Given the description of an element on the screen output the (x, y) to click on. 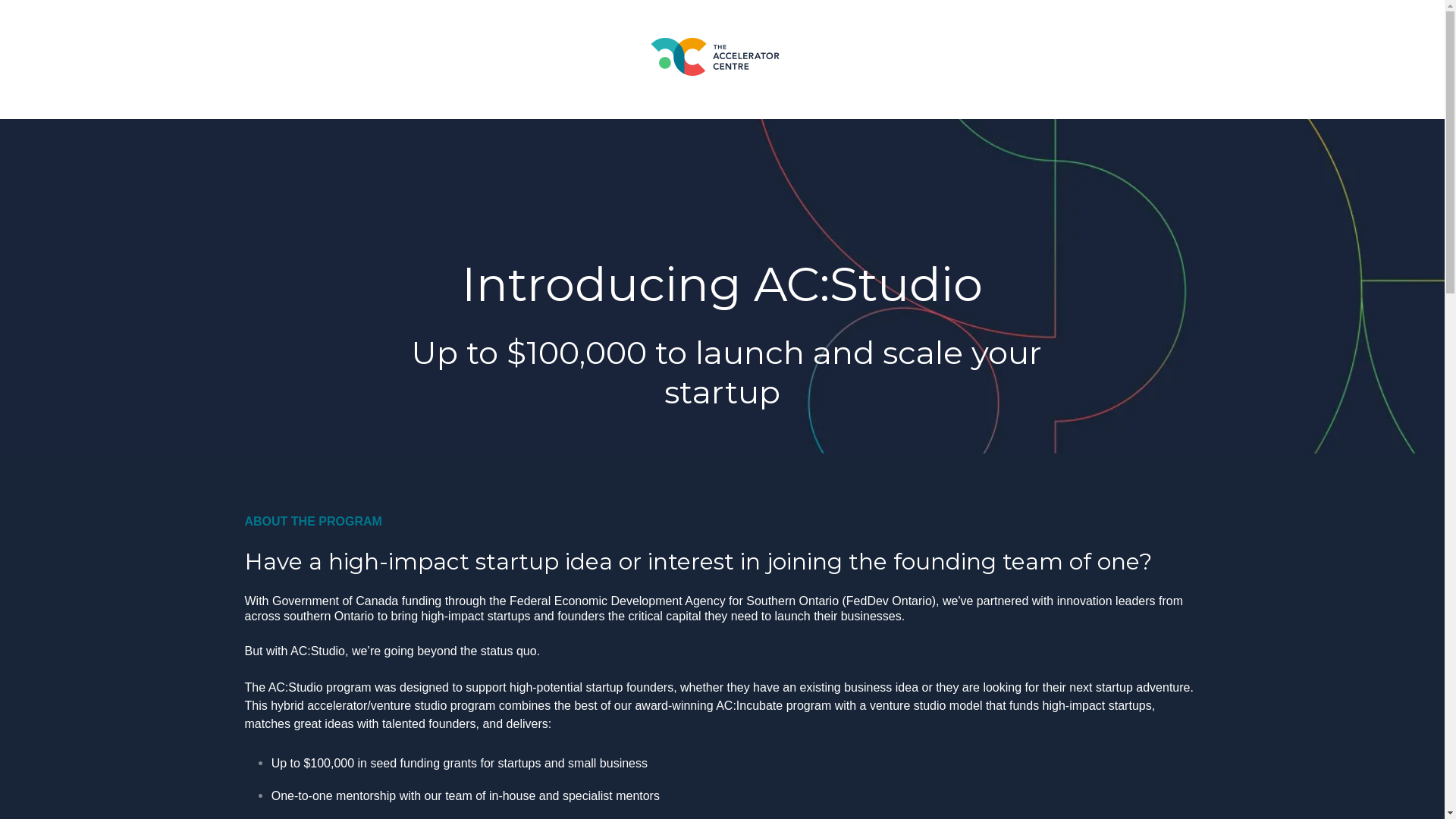
ac_logo_primary_dark-1 Element type: hover (714, 56)
Federal Economic Development Agency for Southern Ontario Element type: text (673, 600)
